Given the description of an element on the screen output the (x, y) to click on. 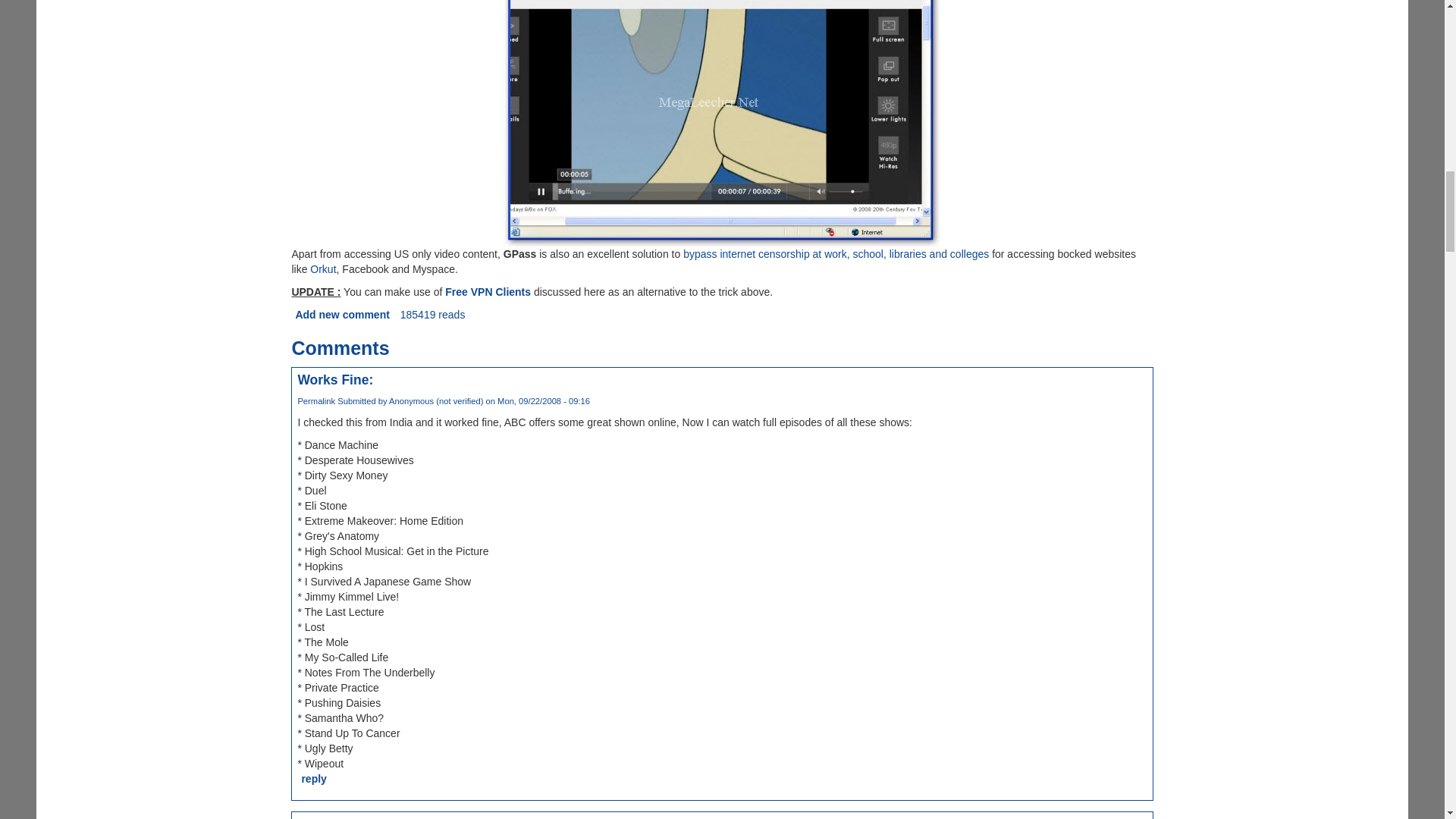
Share your thoughts and opinions related to this posting. (341, 314)
